Given the description of an element on the screen output the (x, y) to click on. 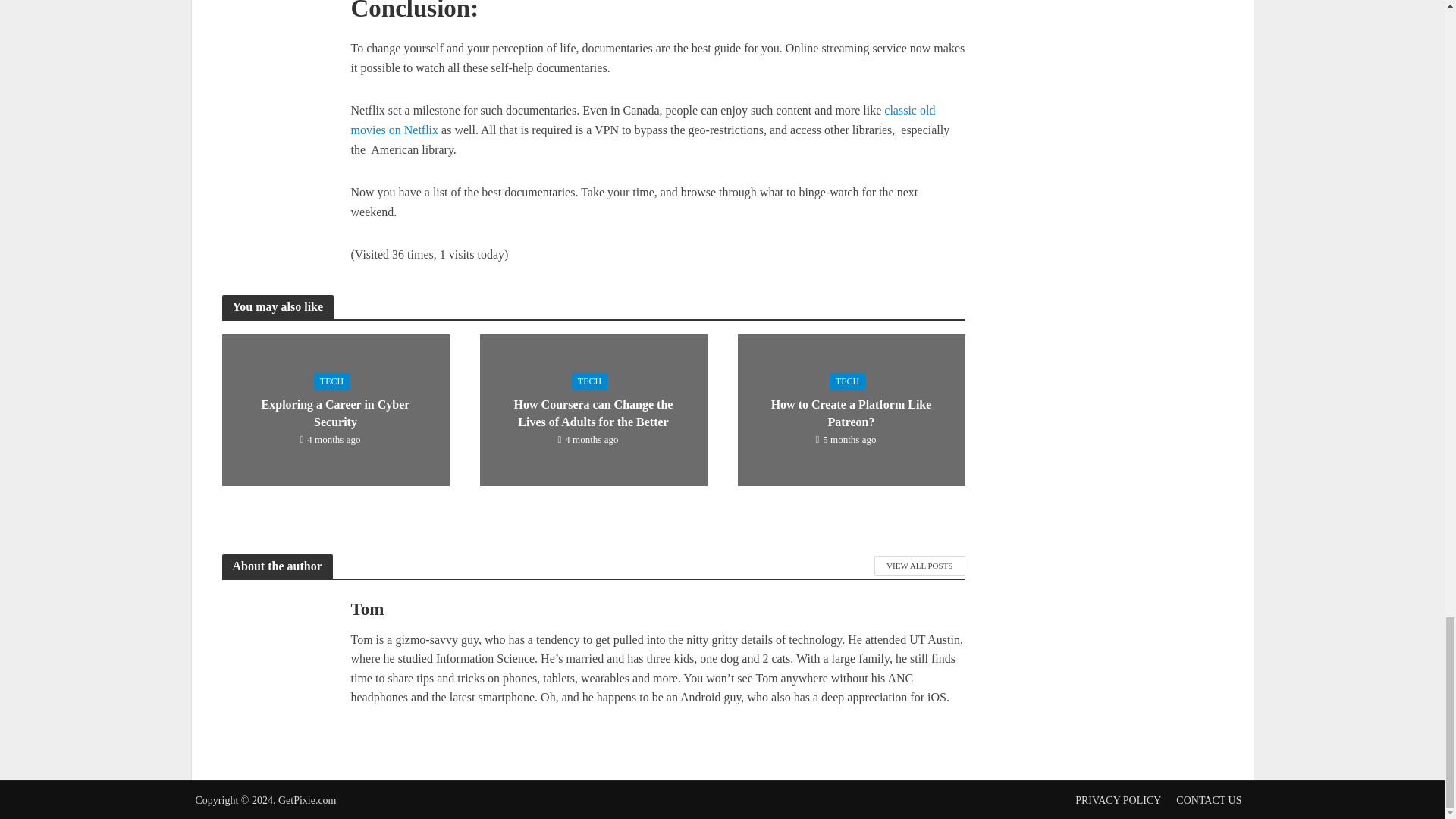
How to Create a Platform Like Patreon? (849, 408)
Exploring a Career in Cyber Security (334, 408)
How Coursera can Change the Lives of Adults for the Better (592, 408)
